Given the description of an element on the screen output the (x, y) to click on. 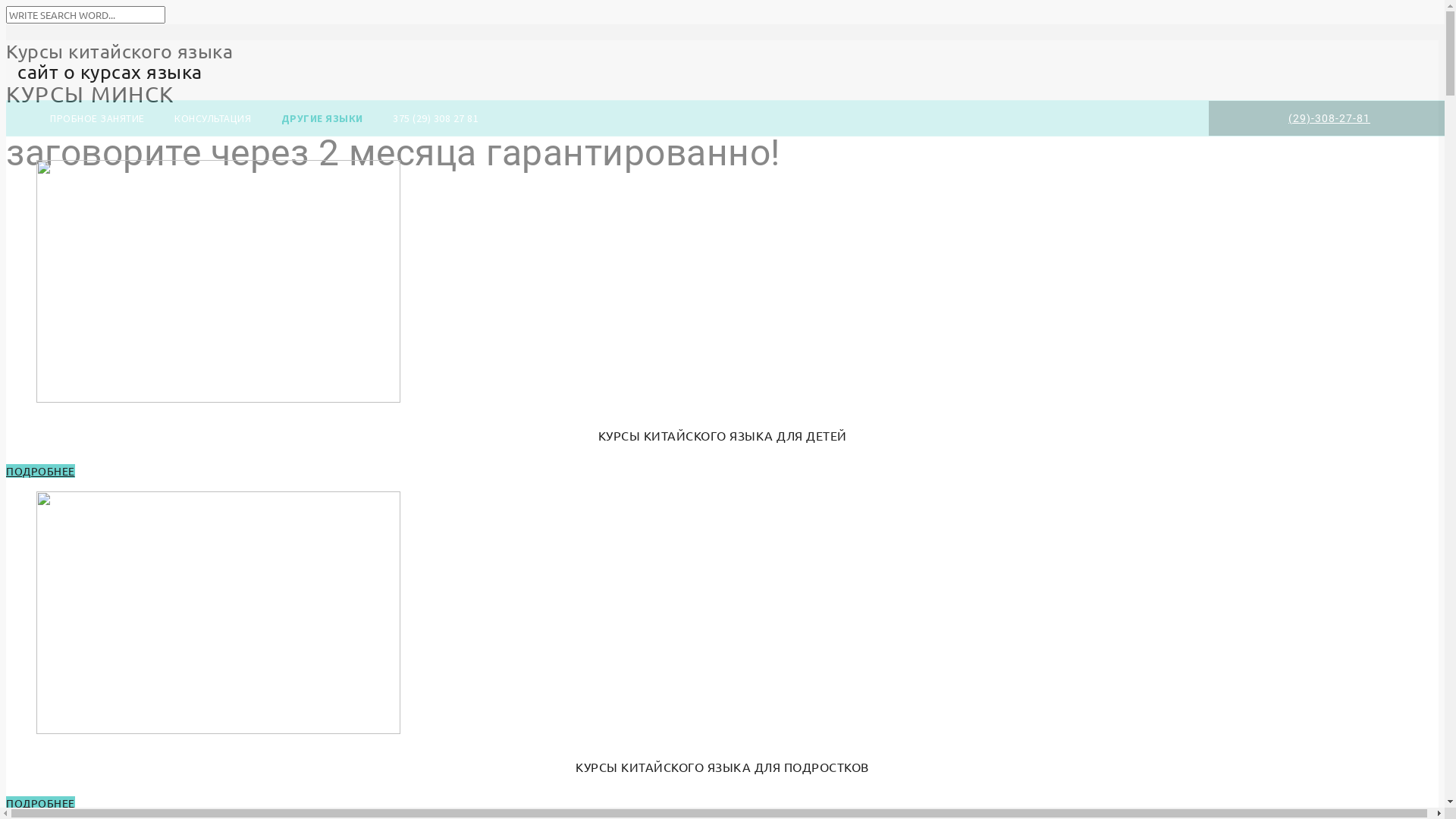
(29)-308-27-81 Element type: text (1328, 117)
375 (29) 308 27 81 Element type: text (486, 117)
